Given the description of an element on the screen output the (x, y) to click on. 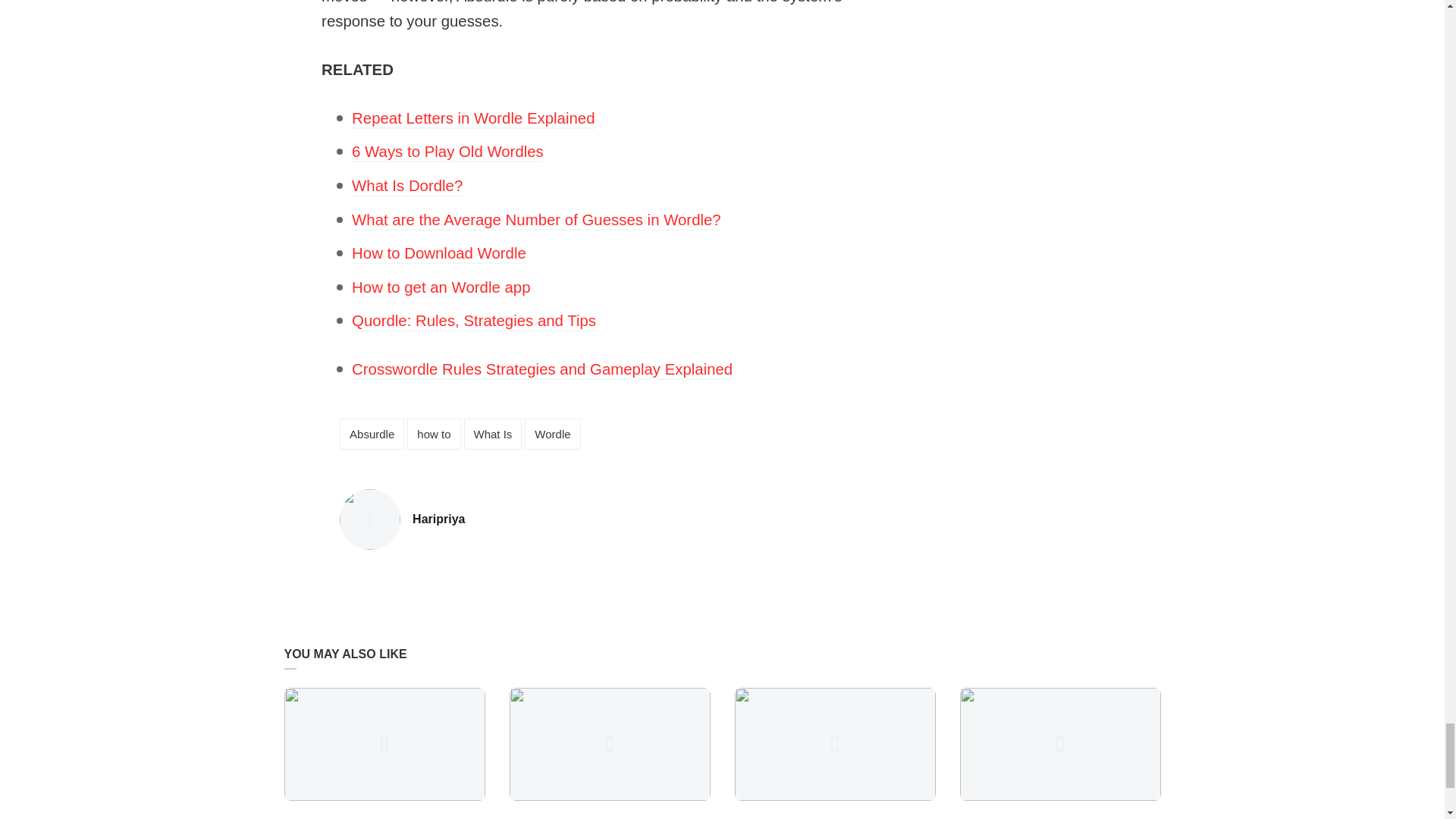
How to get an Wordle app (440, 288)
how to (433, 433)
Absurdle (371, 433)
Repeat Letters in Wordle Explained (438, 519)
How to Download Wordle (473, 118)
What are the Average Number of Guesses in Wordle? (438, 253)
Crosswordle Rules Strategies and Gameplay Explained (536, 220)
Wordle (542, 370)
Quordle: Rules, Strategies and Tips (551, 433)
